Given the description of an element on the screen output the (x, y) to click on. 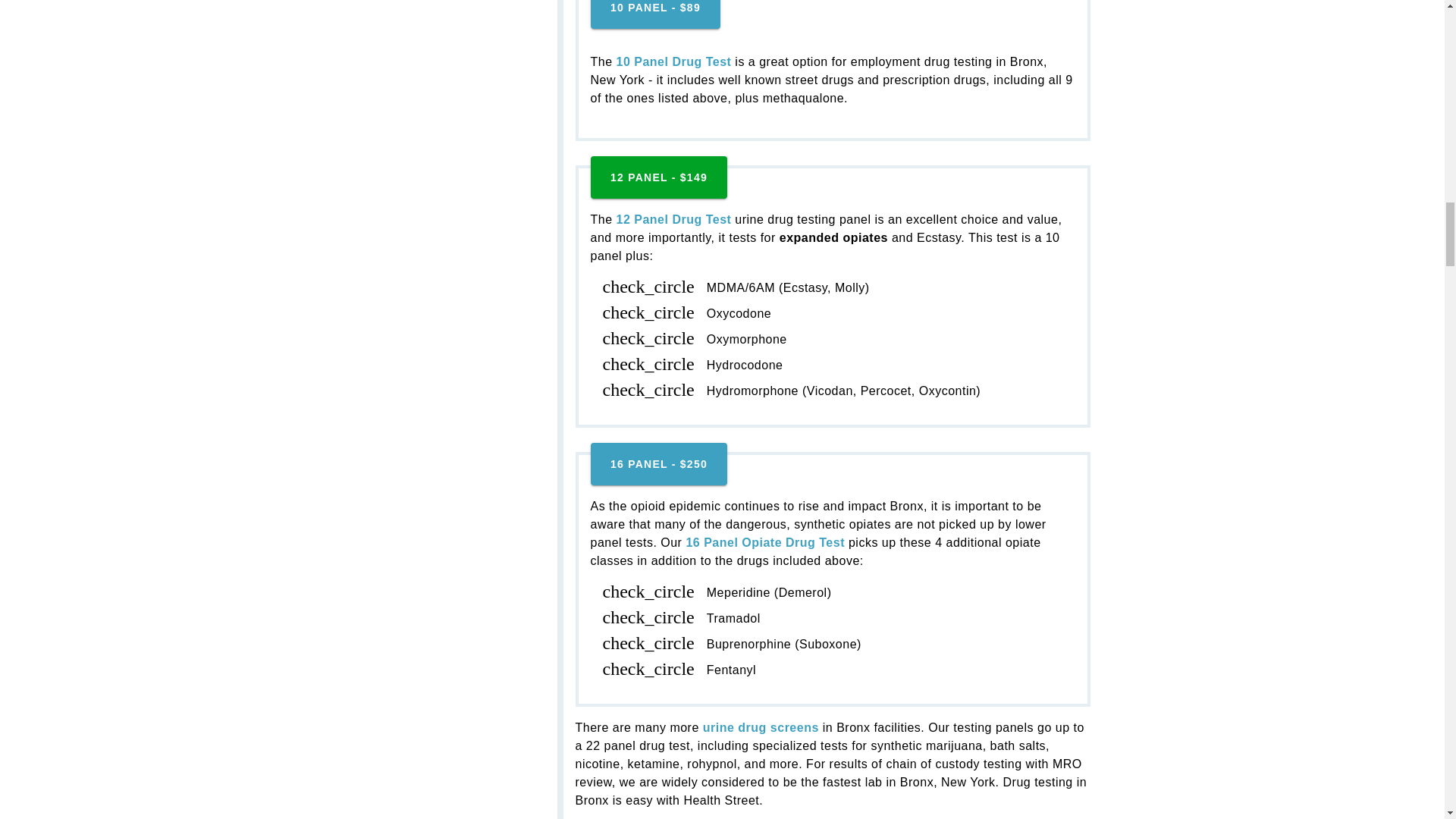
16 Panel Drug Test (657, 464)
view all urine drug screens (762, 727)
16 Panel Opiate Drug Test (764, 542)
10 Panel Drug Test (654, 14)
12 Panel Drug Test (673, 219)
10 Panel Drug Test (673, 61)
12 Panel Drug Test (657, 177)
